Given the description of an element on the screen output the (x, y) to click on. 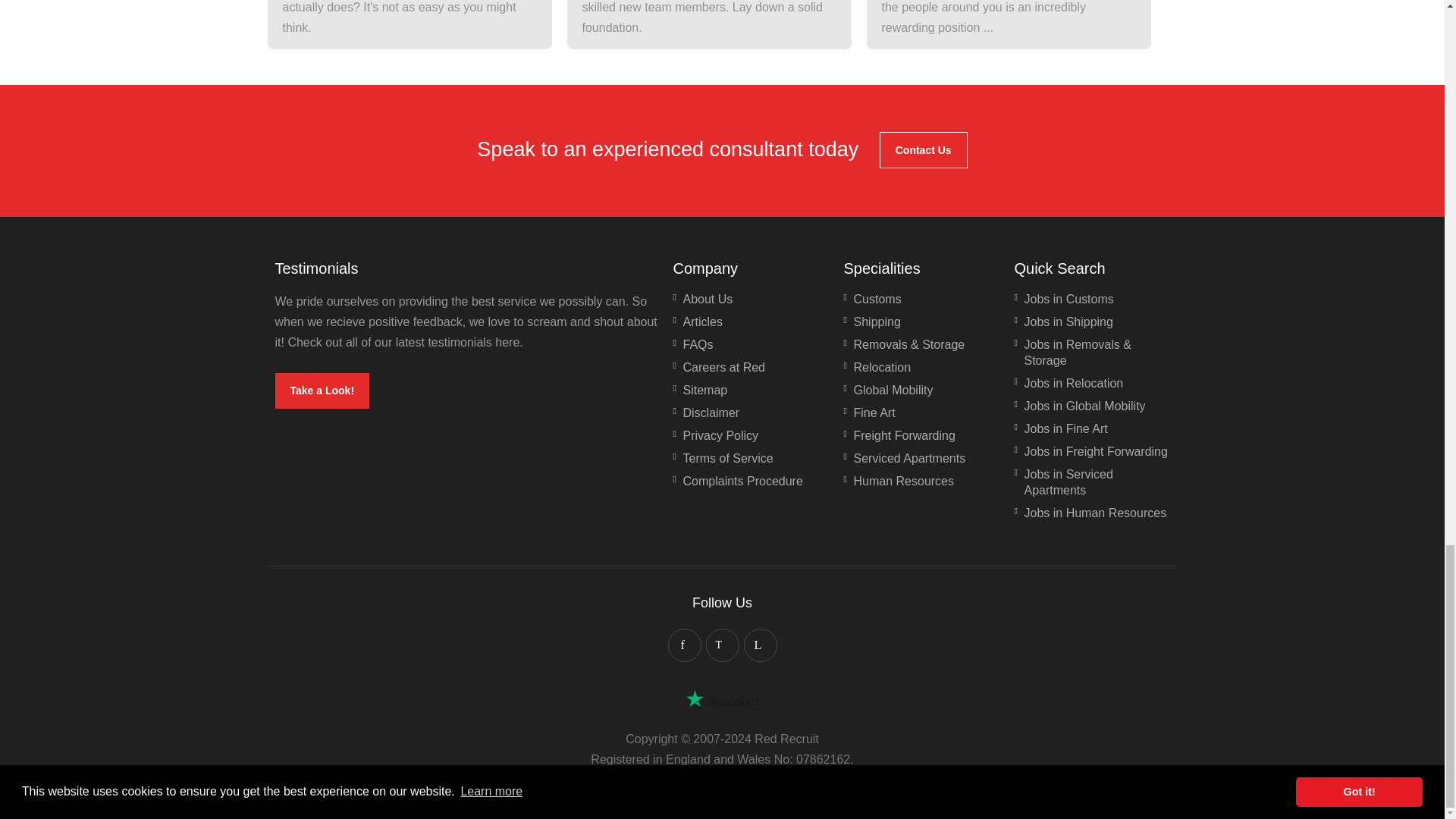
Customer reviews powered by Trustpilot (722, 699)
